Given the description of an element on the screen output the (x, y) to click on. 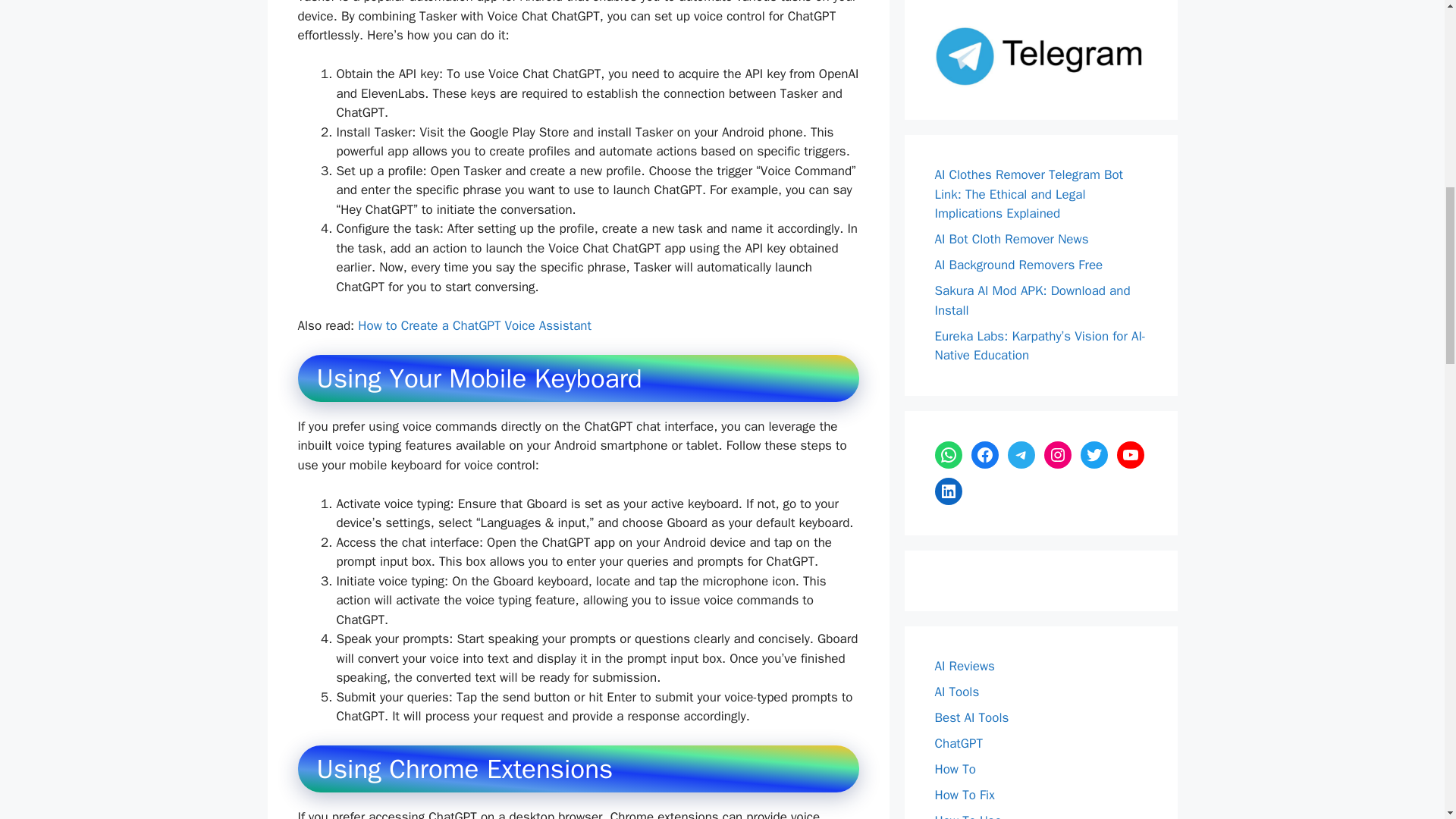
Sakura AI Mod APK: Download and Install (1031, 300)
Facebook (984, 454)
AI Background Removers Free (1018, 264)
AI Bot Cloth Remover News (1010, 238)
Scroll back to top (1406, 720)
WhatsApp (947, 454)
How to Create a ChatGPT Voice Assistant (474, 325)
